Given the description of an element on the screen output the (x, y) to click on. 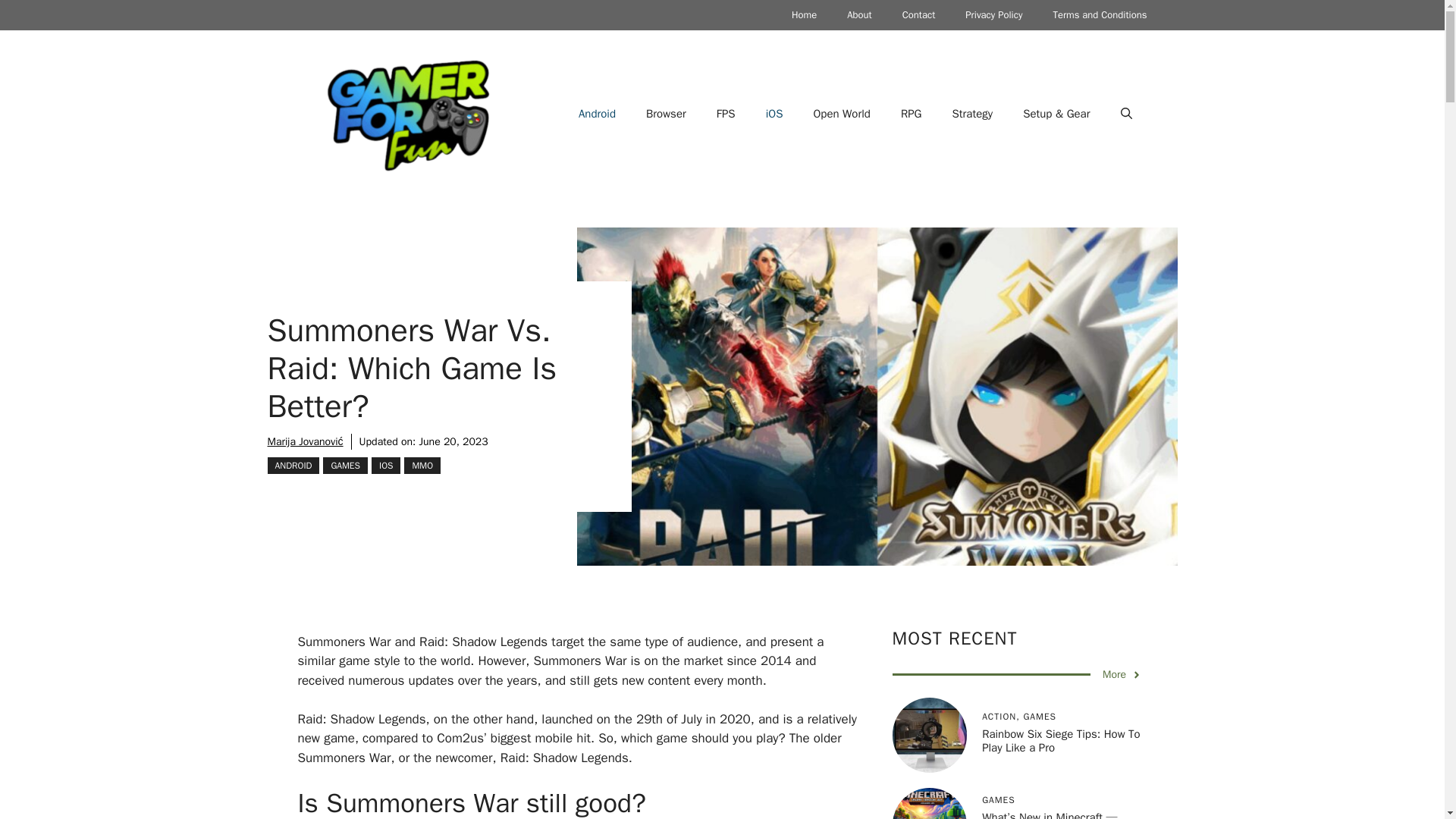
Contact (918, 15)
Home (803, 15)
IOS (385, 465)
FPS (726, 113)
RPG (911, 113)
Open World (841, 113)
About (858, 15)
Terms and Conditions (1098, 15)
iOS (774, 113)
MMO (422, 465)
Privacy Policy (993, 15)
GAMES (345, 465)
ANDROID (292, 465)
Browser (665, 113)
Android (596, 113)
